Given the description of an element on the screen output the (x, y) to click on. 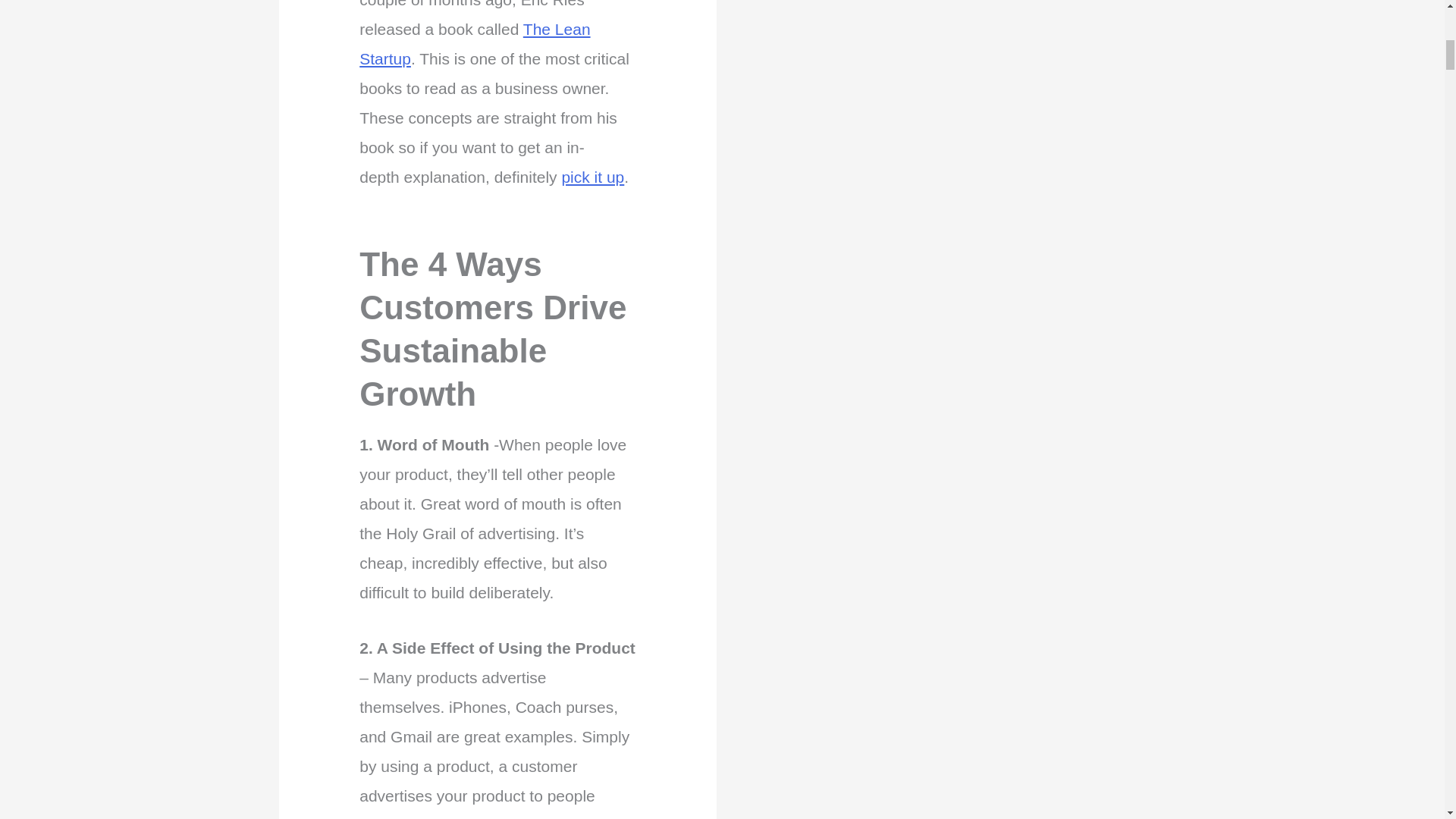
The Lean Startup (474, 43)
Amazon.com - The Lean Startup (592, 176)
Amazon.com - The Lean Startup (474, 43)
pick it up (592, 176)
